Given the description of an element on the screen output the (x, y) to click on. 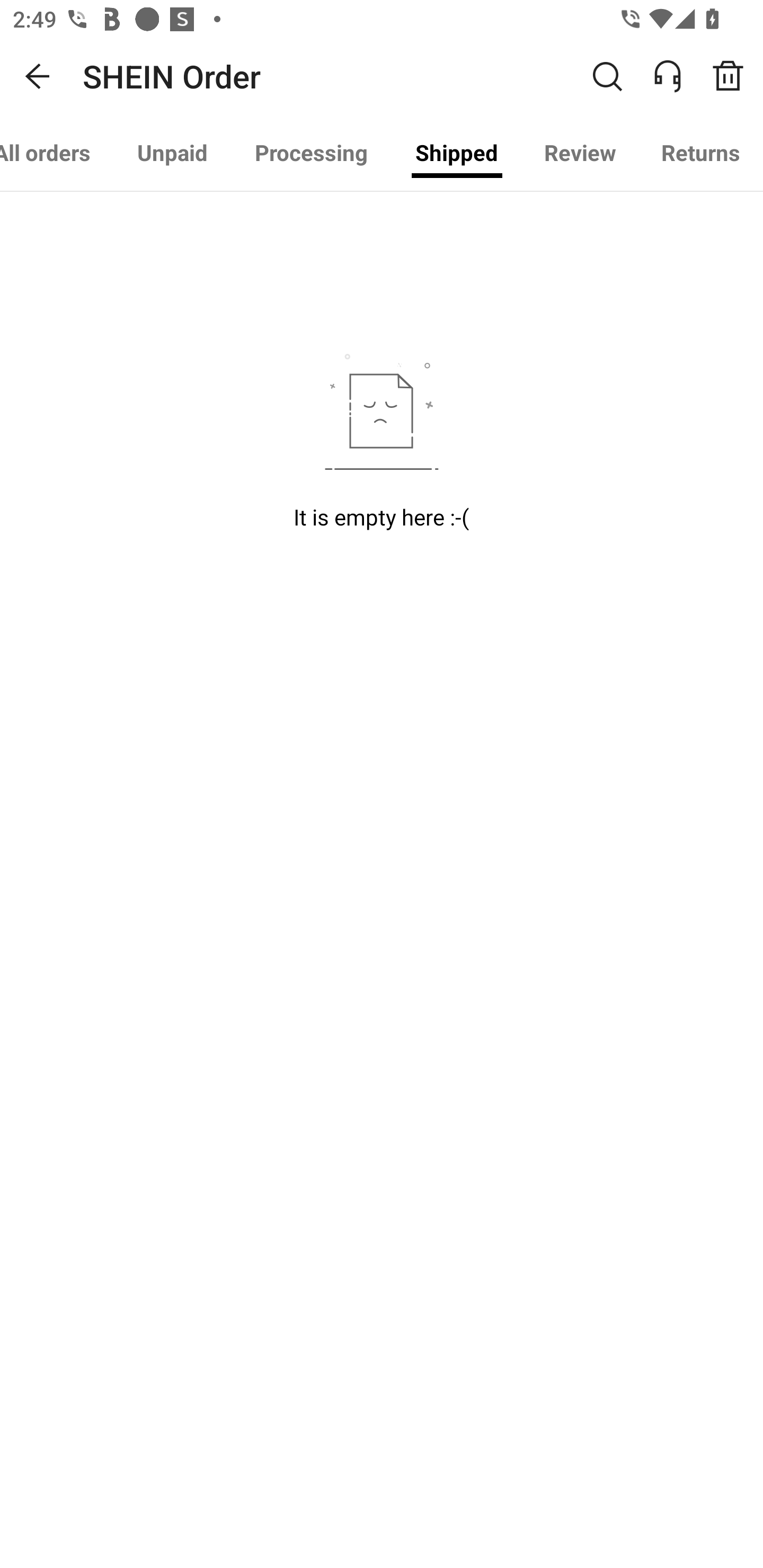
Navigate up (38, 75)
Search (607, 75)
ONLINE SERVICE (676, 75)
Order Recycle Bin (734, 75)
Unpaid (171, 152)
Processing (310, 152)
Shipped (456, 152)
Review (579, 152)
Returns (700, 152)
